Given the description of an element on the screen output the (x, y) to click on. 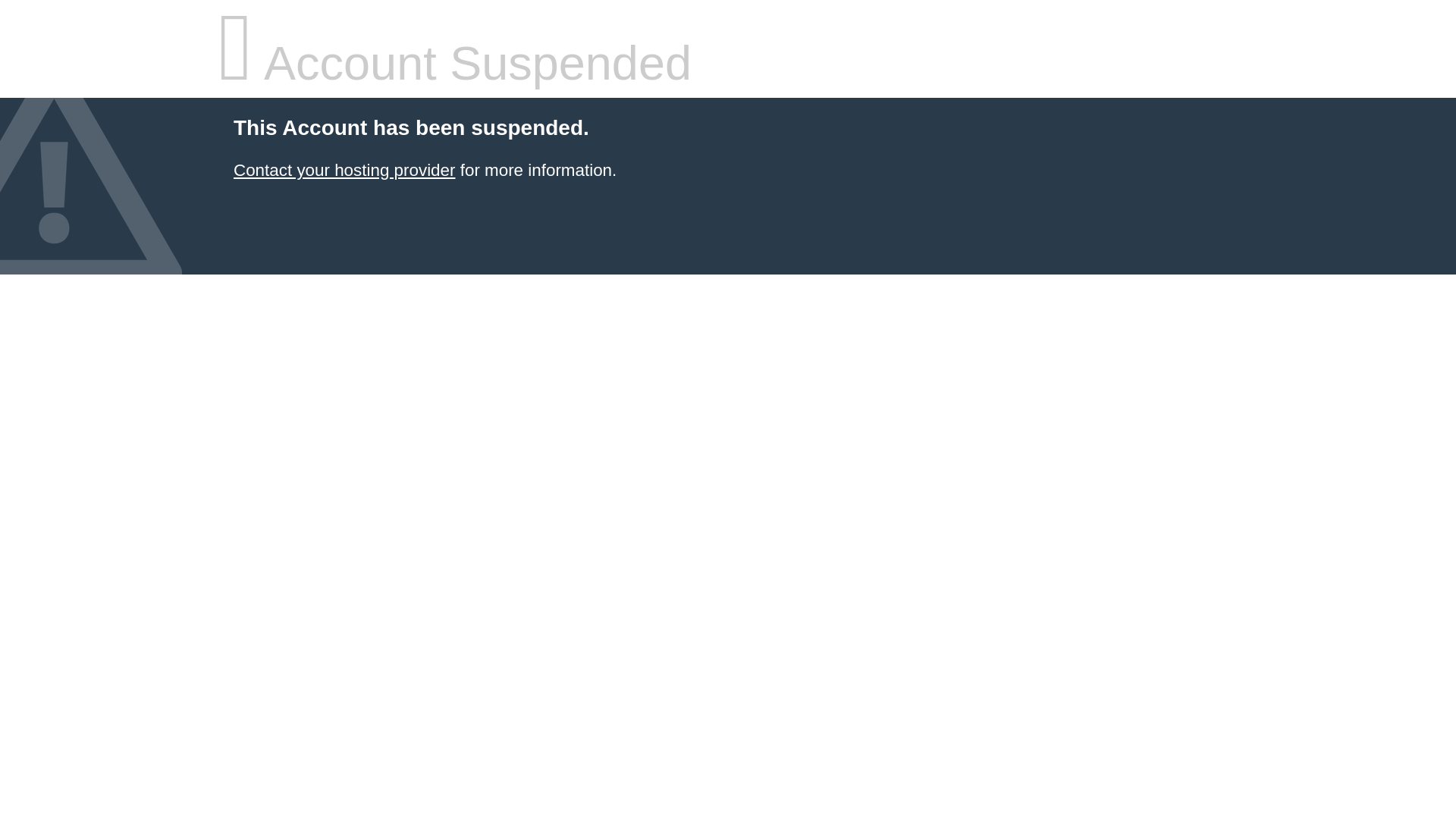
Contact your hosting provider (343, 169)
